Given the description of an element on the screen output the (x, y) to click on. 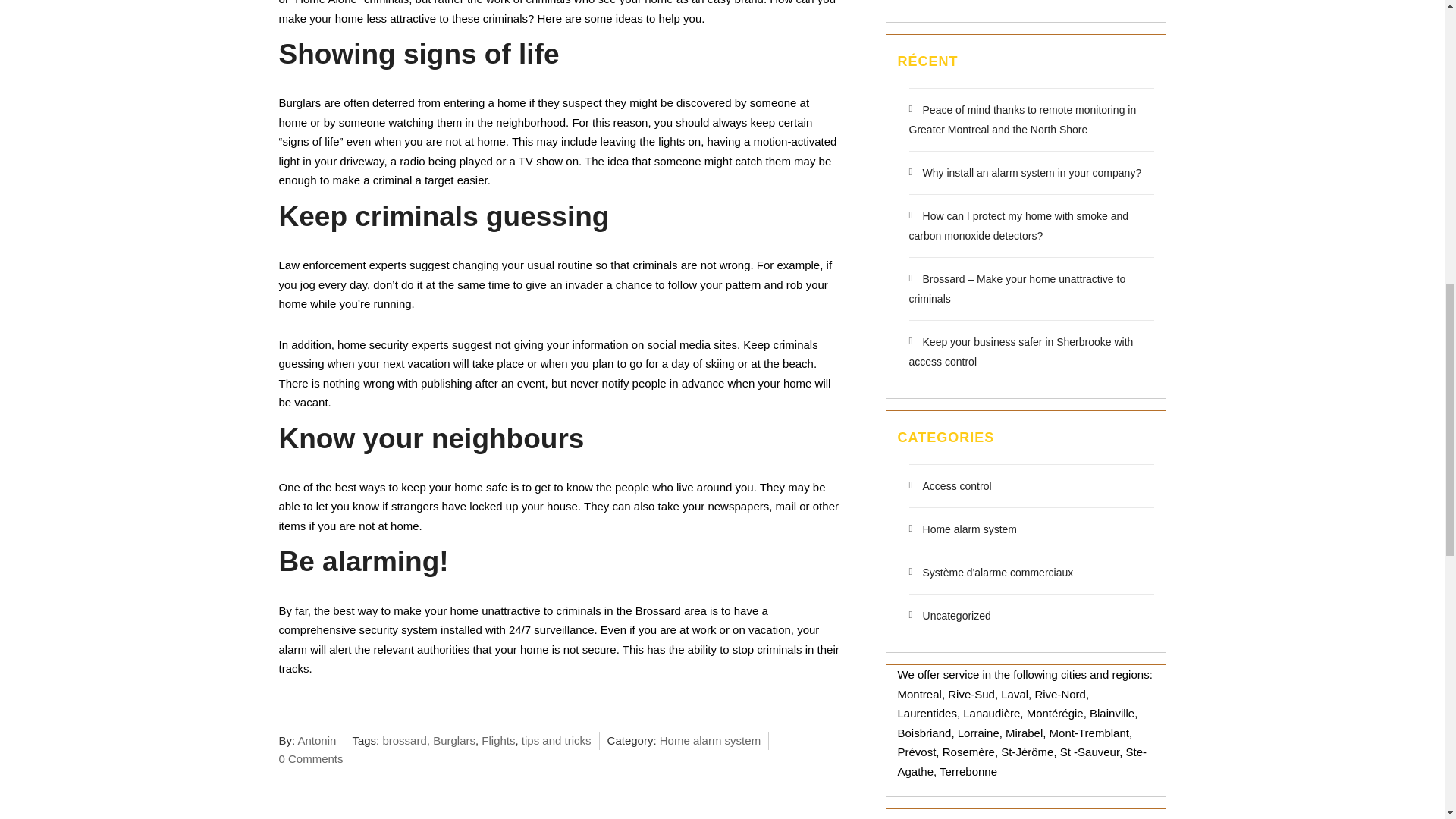
Why install an alarm system in your company? (1024, 173)
0 Comments (311, 758)
Flights (498, 739)
tips and tricks (556, 739)
brossard (403, 739)
Burglars (454, 739)
Home alarm system (709, 739)
Access control (949, 485)
Keep your business safer in Sherbrooke with access control (1021, 351)
